Given the description of an element on the screen output the (x, y) to click on. 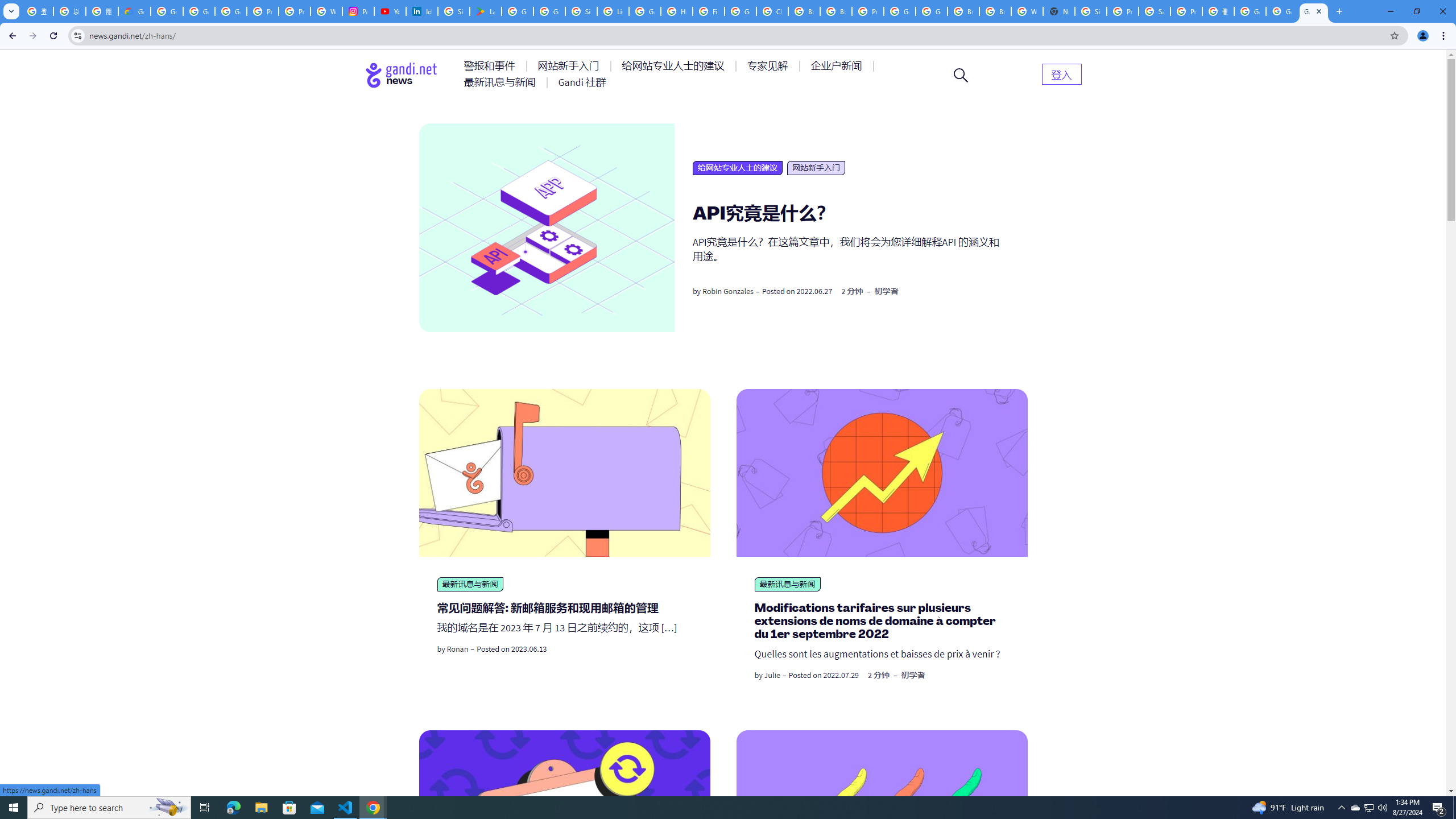
Google Cloud Platform (899, 11)
AutomationID: menu-item-77761 (492, 65)
AutomationID: menu-item-82399 (1061, 73)
YouTube Culture & Trends - On The Rise: Handcam Videos (389, 11)
